Given the description of an element on the screen output the (x, y) to click on. 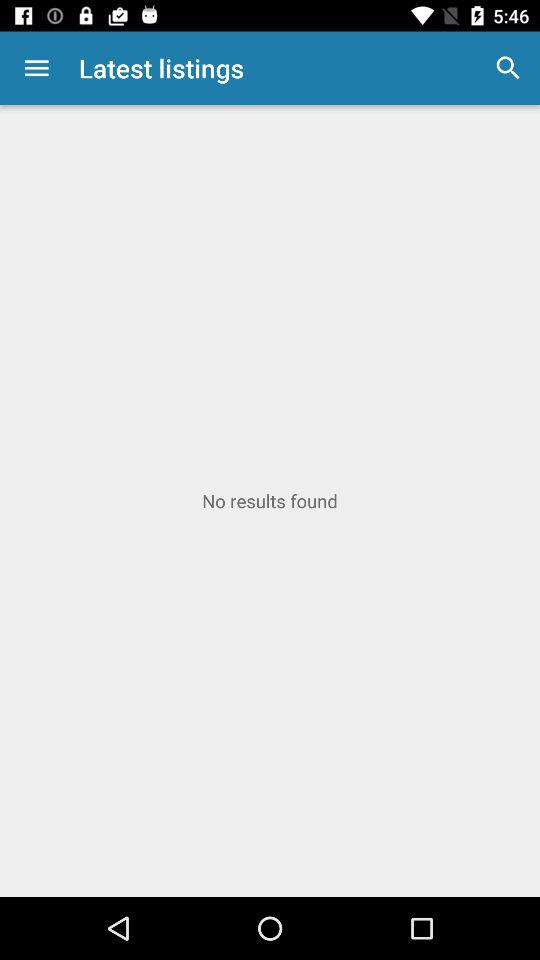
select the app to the left of latest listings item (36, 68)
